Given the description of an element on the screen output the (x, y) to click on. 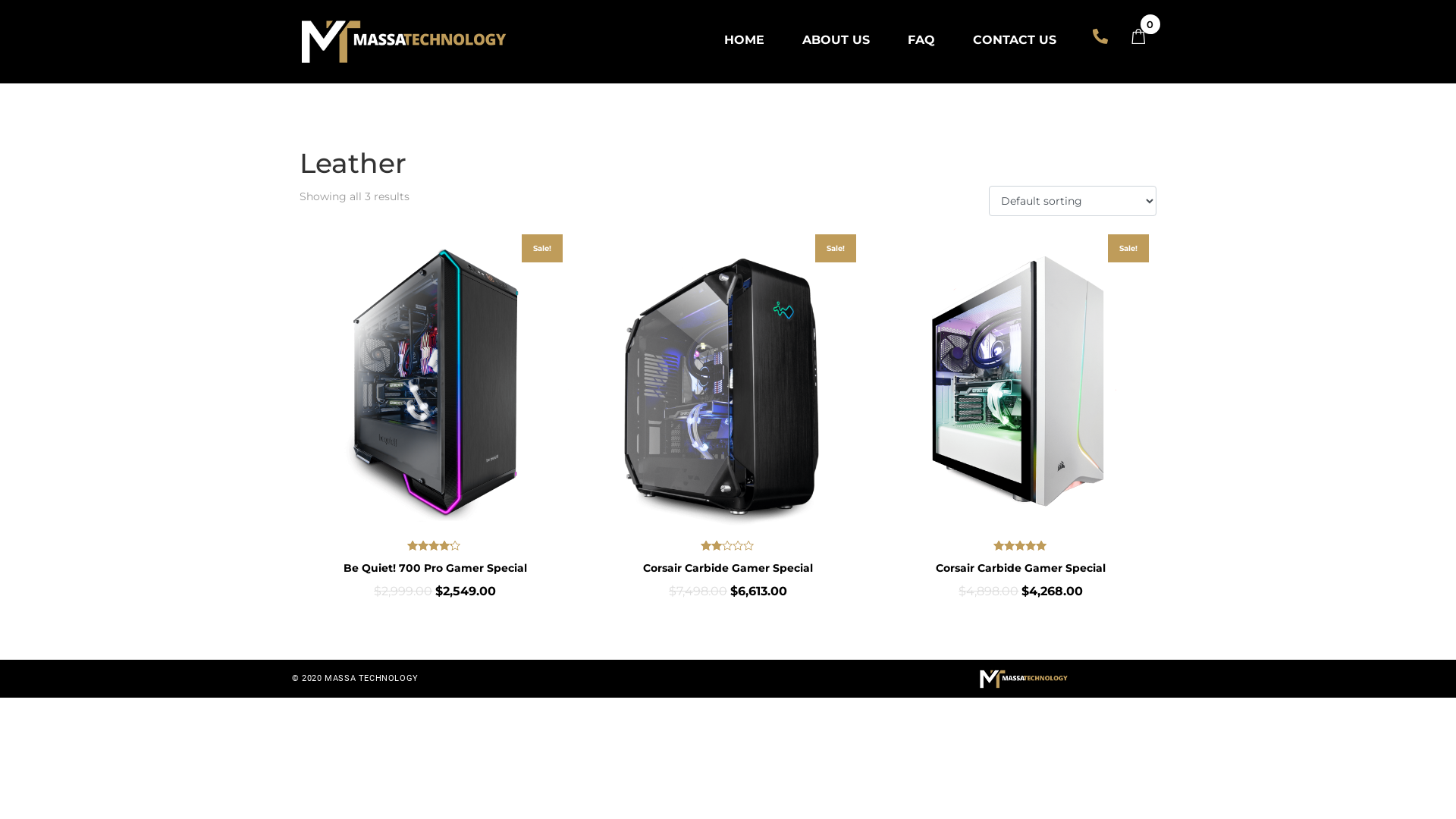
0 Element type: text (1145, 37)
ABOUT US Element type: text (835, 39)
FAQ Element type: text (921, 39)
CONTACT US Element type: text (1014, 39)
HOME Element type: text (744, 39)
